Given the description of an element on the screen output the (x, y) to click on. 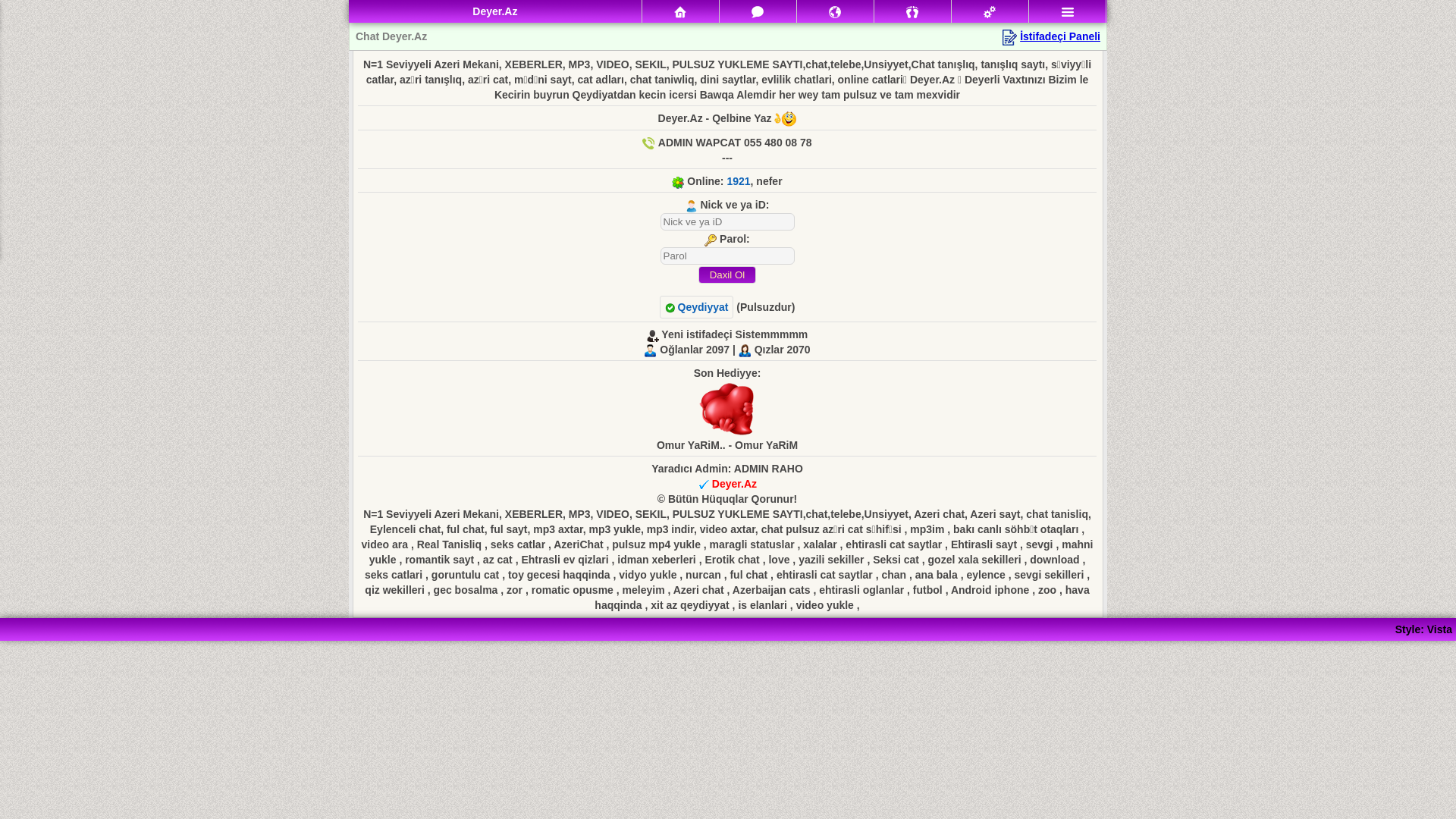
Ana Sehife Element type: hover (680, 11)
Qeydiyyat Element type: text (696, 306)
Ana Sehife Element type: hover (680, 12)
Style: Vista Element type: text (1423, 629)
Daxil Ol Element type: text (726, 274)
Parol Element type: hover (726, 255)
Qonaqlar Element type: hover (912, 11)
Deyer.Az Element type: text (734, 483)
Mesajlar Element type: hover (757, 11)
nick Element type: hover (726, 221)
Qonaqlar Element type: hover (912, 12)
Mektublar Element type: hover (835, 11)
Mektublar Element type: hover (834, 12)
1921 Element type: text (737, 181)
Mesajlar Element type: hover (757, 12)
